Given the description of an element on the screen output the (x, y) to click on. 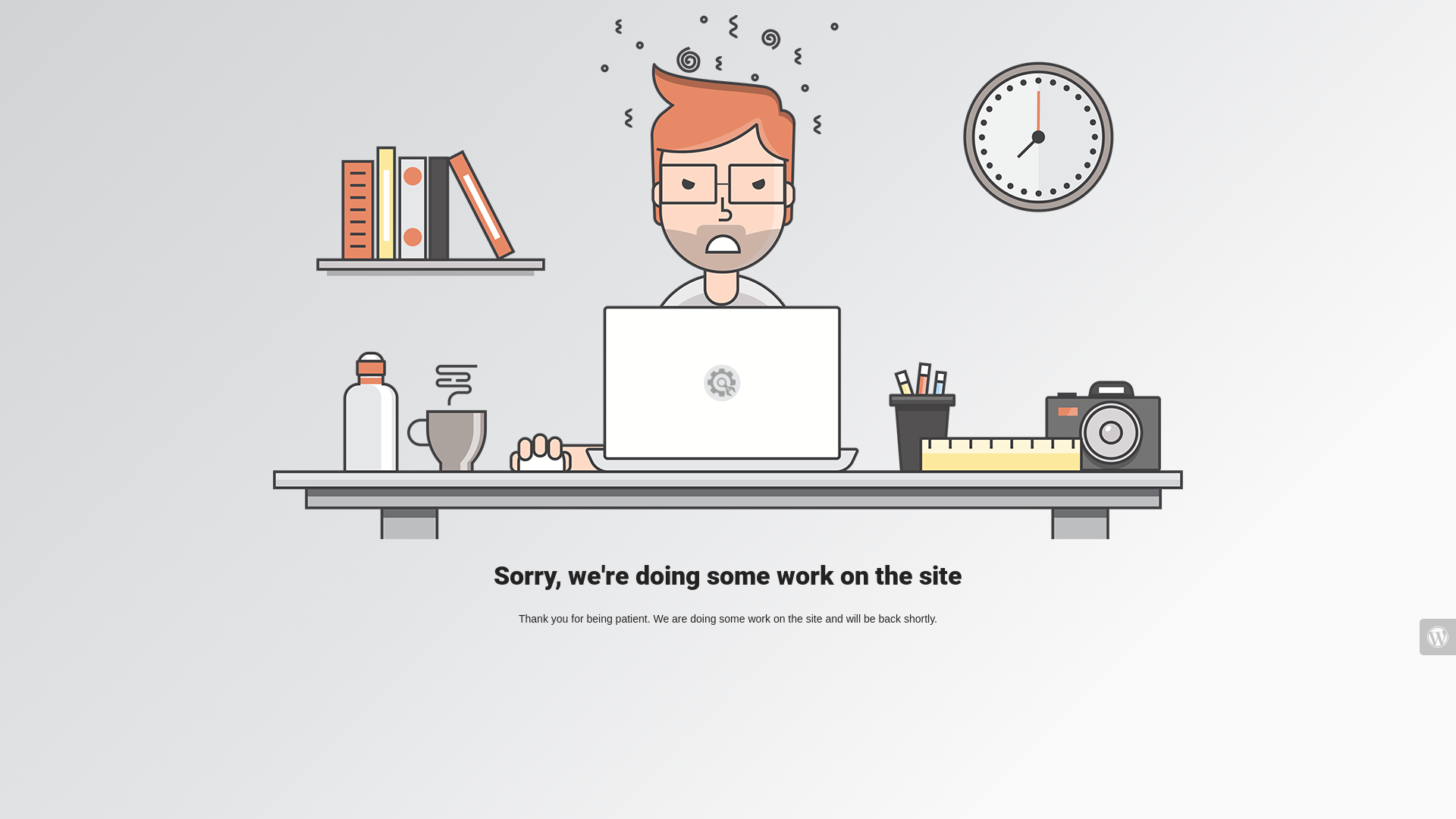
Mad Designer at work Element type: hover (728, 277)
